Given the description of an element on the screen output the (x, y) to click on. 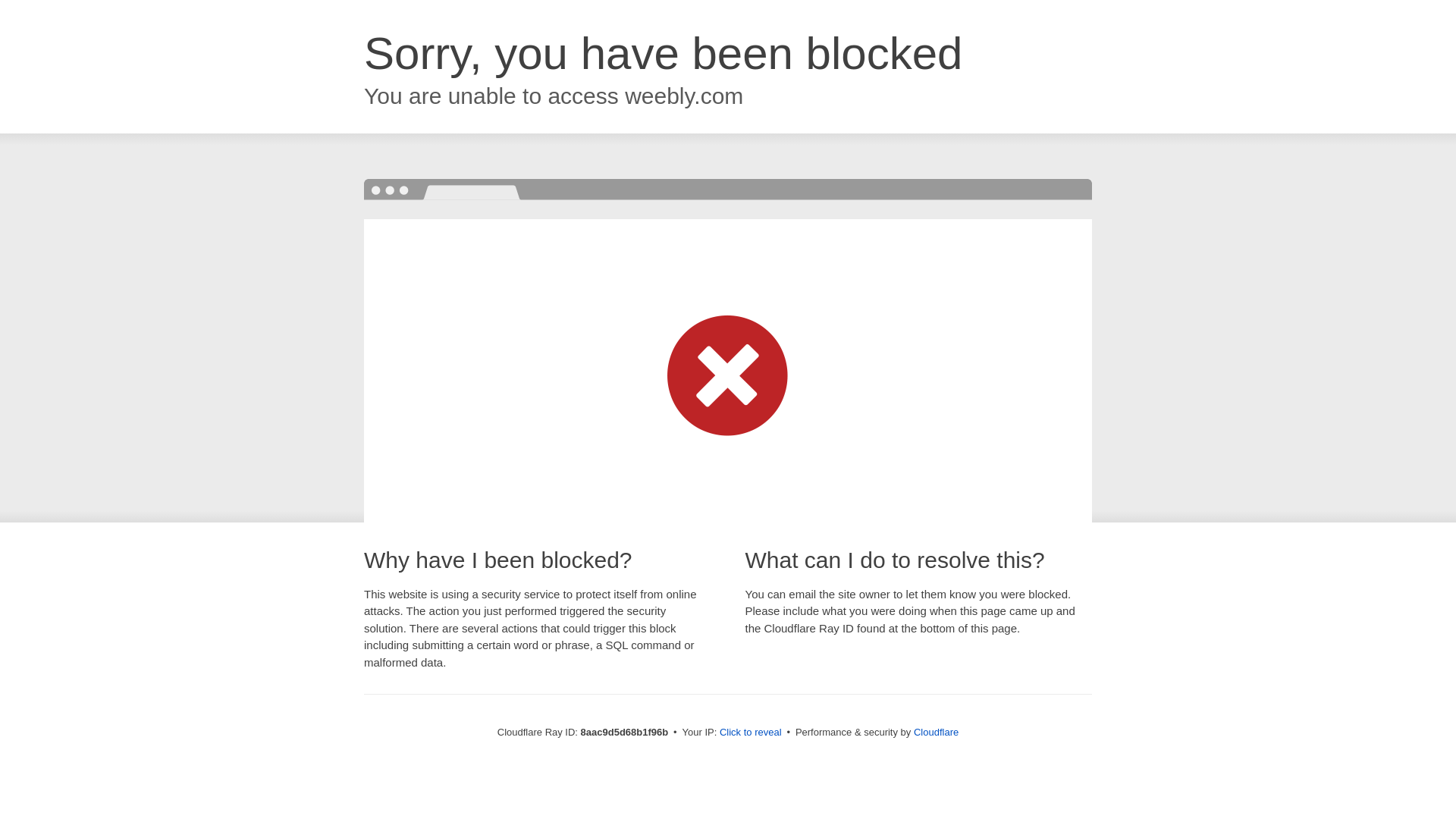
Cloudflare (936, 731)
Click to reveal (750, 732)
